Given the description of an element on the screen output the (x, y) to click on. 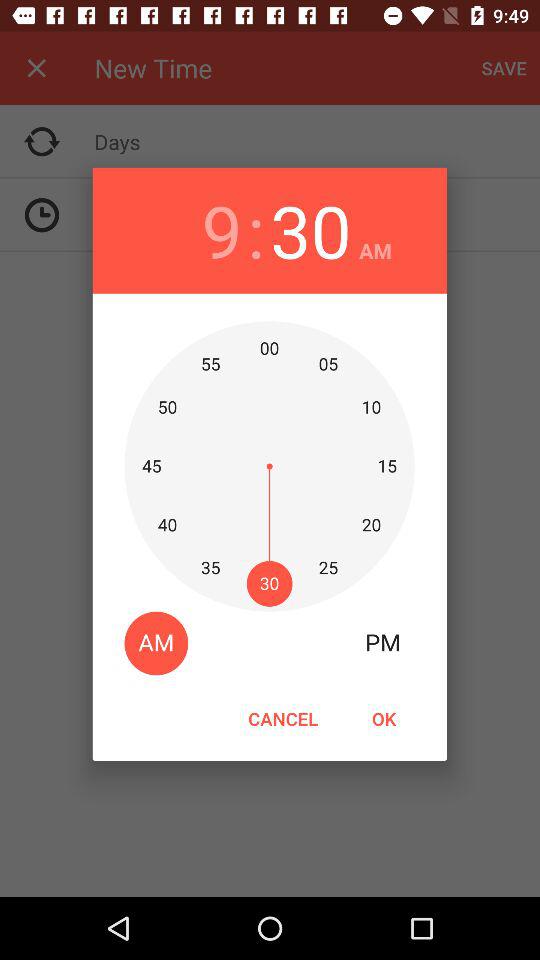
press icon to the left of ok item (283, 718)
